Given the description of an element on the screen output the (x, y) to click on. 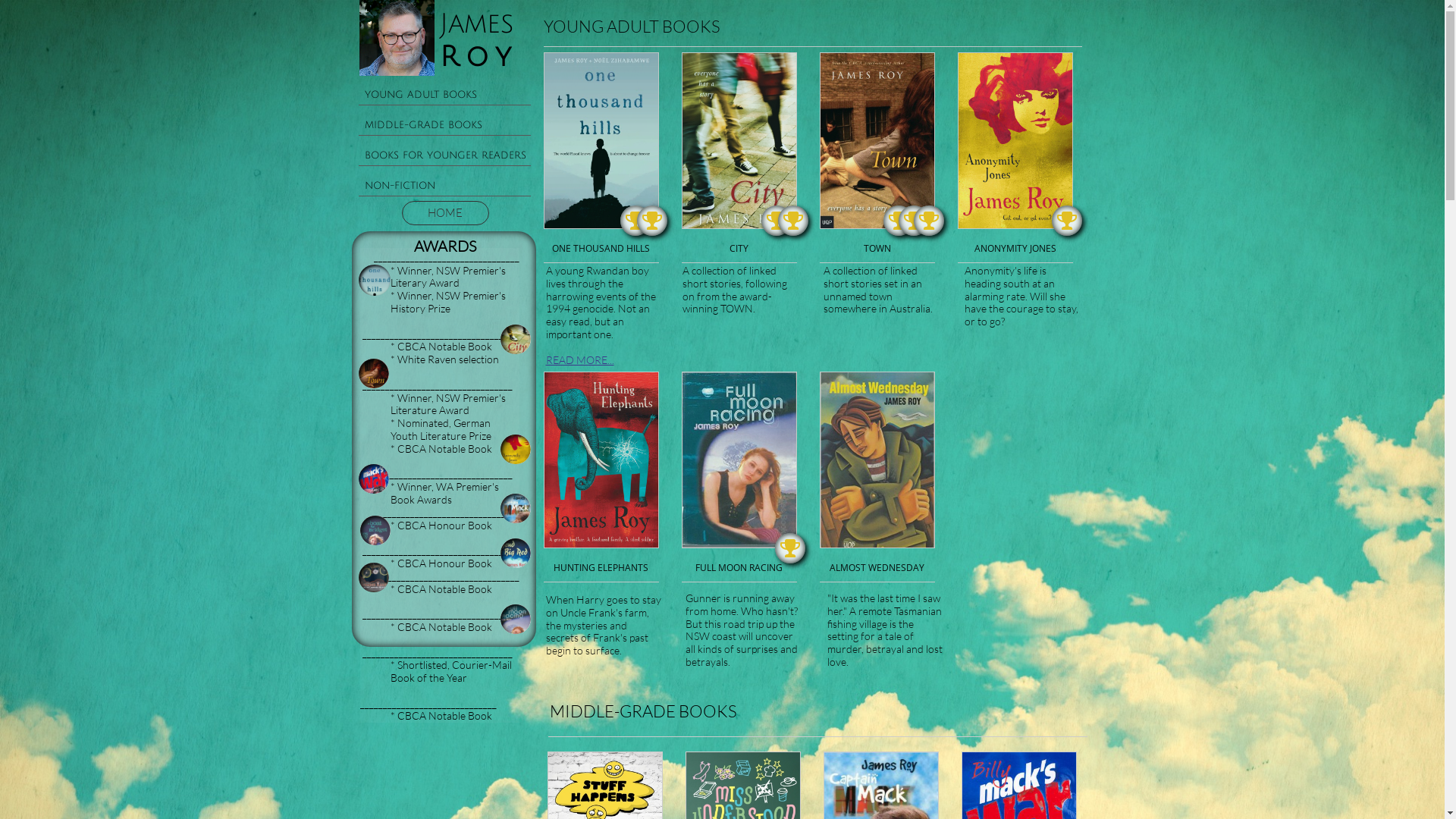
READ MORE... Element type: text (580, 359)
James
Roy Element type: text (484, 41)
HOME Element type: text (445, 212)
